Given the description of an element on the screen output the (x, y) to click on. 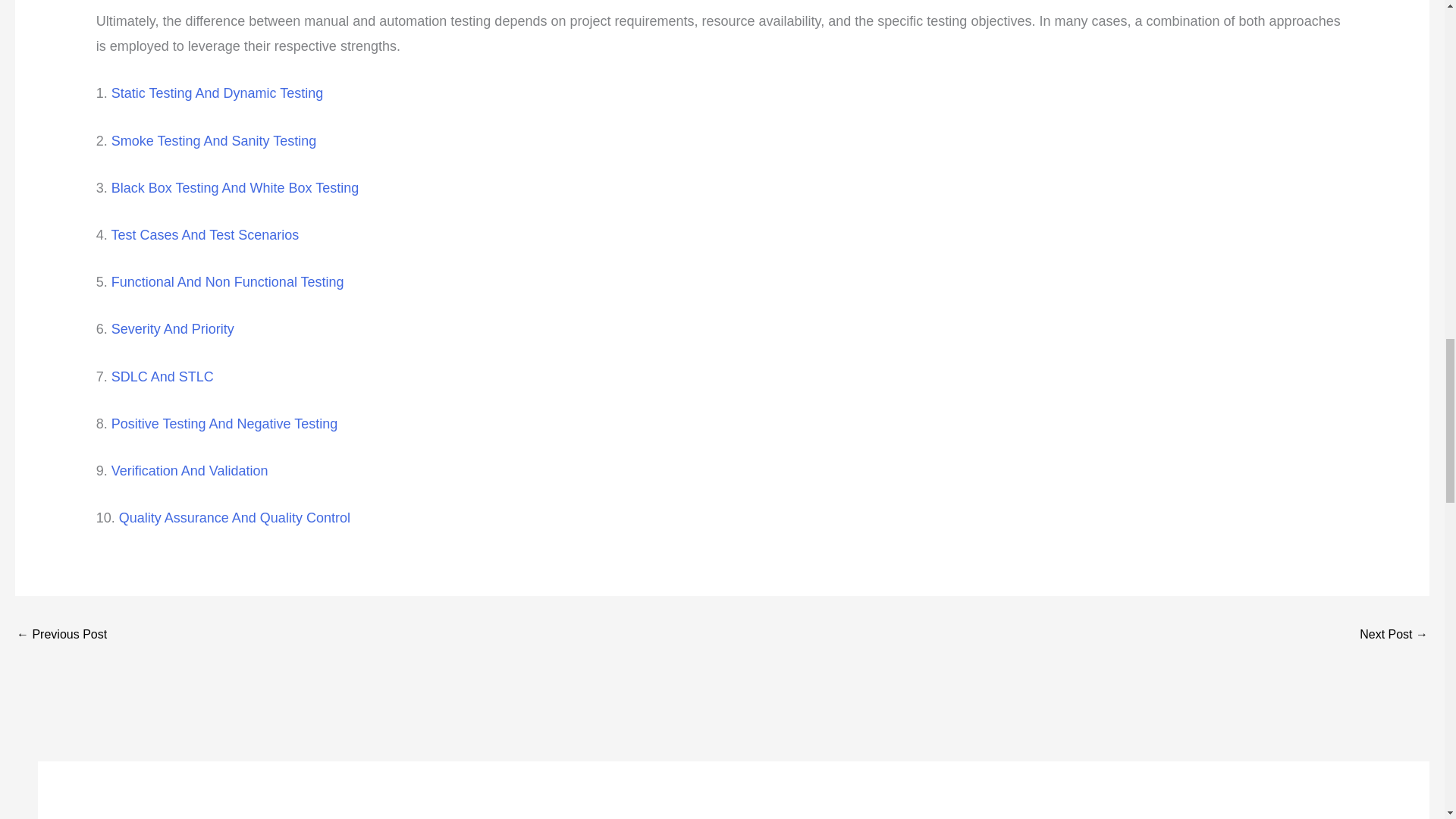
Quality Assurance And Quality Control (234, 517)
SDLC And STLC (163, 376)
Black Box Testing And White Box Testing (235, 187)
Test Cases And Test Scenarios (204, 234)
Verification And Validation (189, 470)
Advertisement (164, 802)
Static Testing And Dynamic Testing (217, 92)
Positive Testing And Negative Testing (224, 423)
Smoke Testing And Sanity Testing (214, 140)
Functional And Non Functional Testing (227, 281)
